Given the description of an element on the screen output the (x, y) to click on. 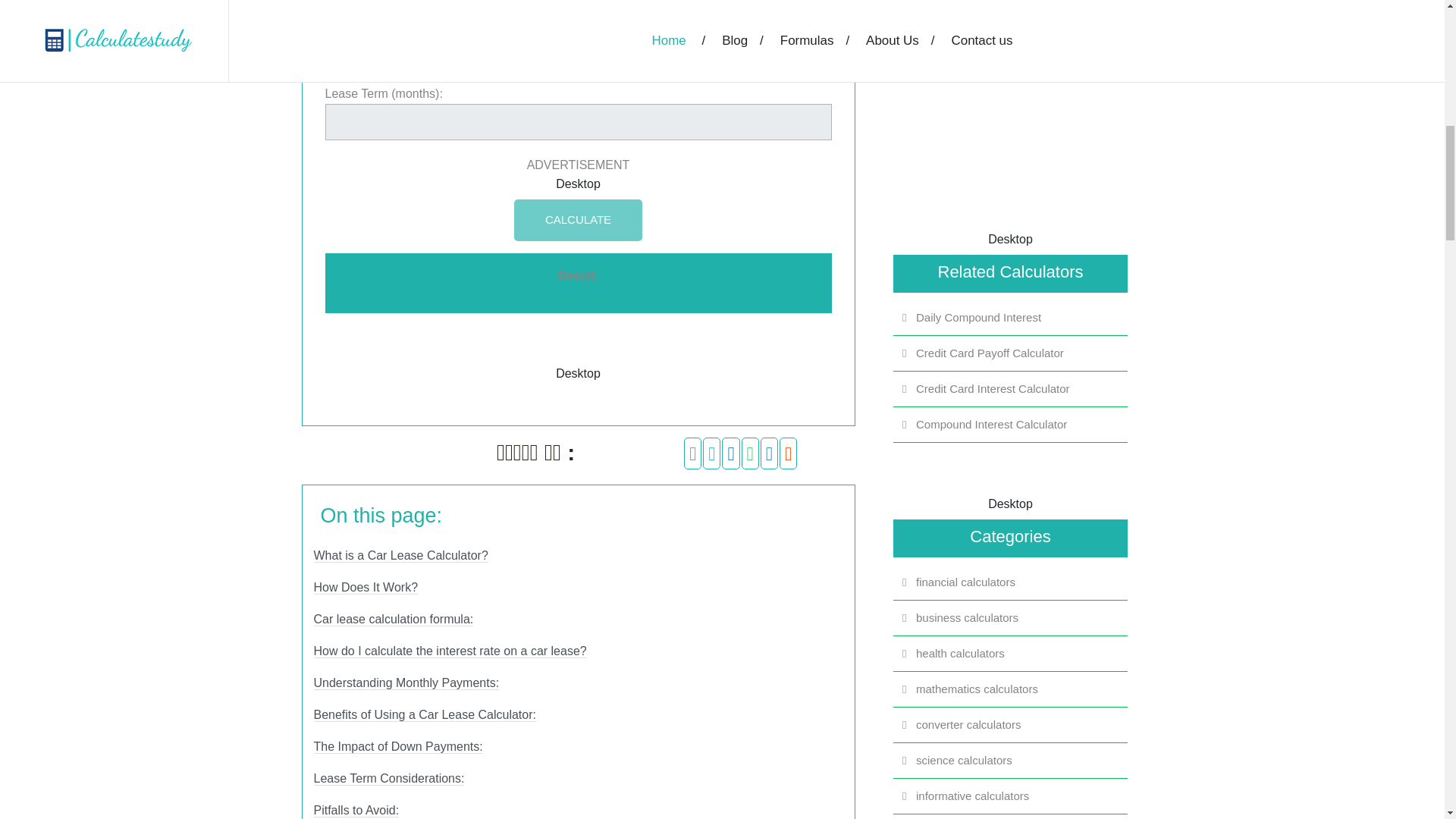
      Credit Card Interest Calculator (1010, 388)
      financial calculators (1010, 582)
CALCULATE (577, 219)
      Compound Interest Calculator (1010, 424)
How do I calculate the interest rate on a car lease? (450, 651)
      business calculators (1010, 618)
      science calculators (1010, 760)
Understanding Monthly Payments: (406, 683)
Benefits of Using a Car Lease Calculator: (424, 714)
      Daily Compound Interest (1010, 317)
      informative calculators (1010, 795)
Pitfalls to Avoid: (356, 810)
Car lease calculation formula: (394, 619)
How Does It Work? (366, 587)
      mathematics calculators (1010, 689)
